Given the description of an element on the screen output the (x, y) to click on. 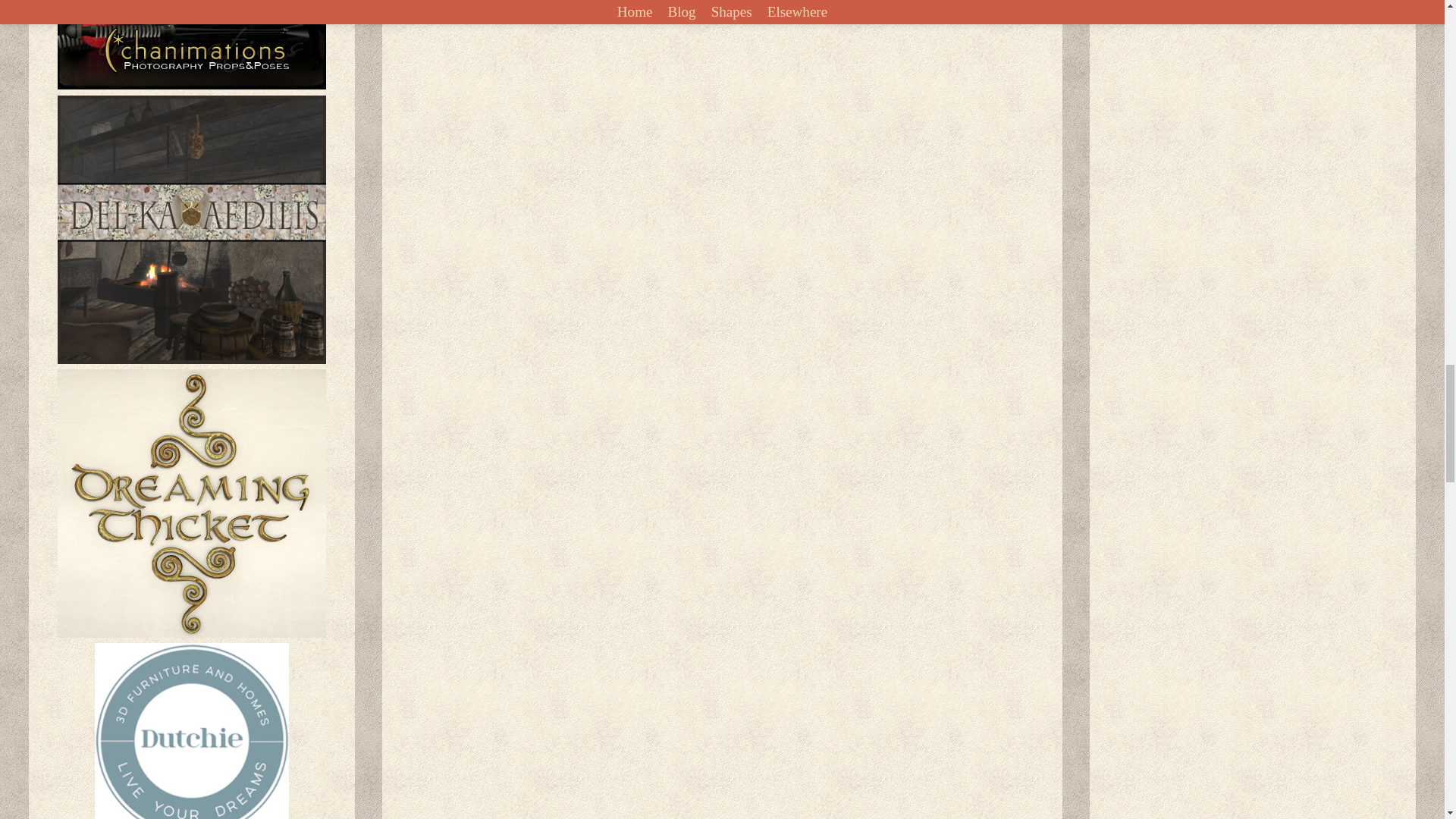
Del-ka Aedilis (192, 229)
chanimations and deviousMind (192, 45)
Dutchie (191, 730)
Dreaming Thicket (192, 503)
